Given the description of an element on the screen output the (x, y) to click on. 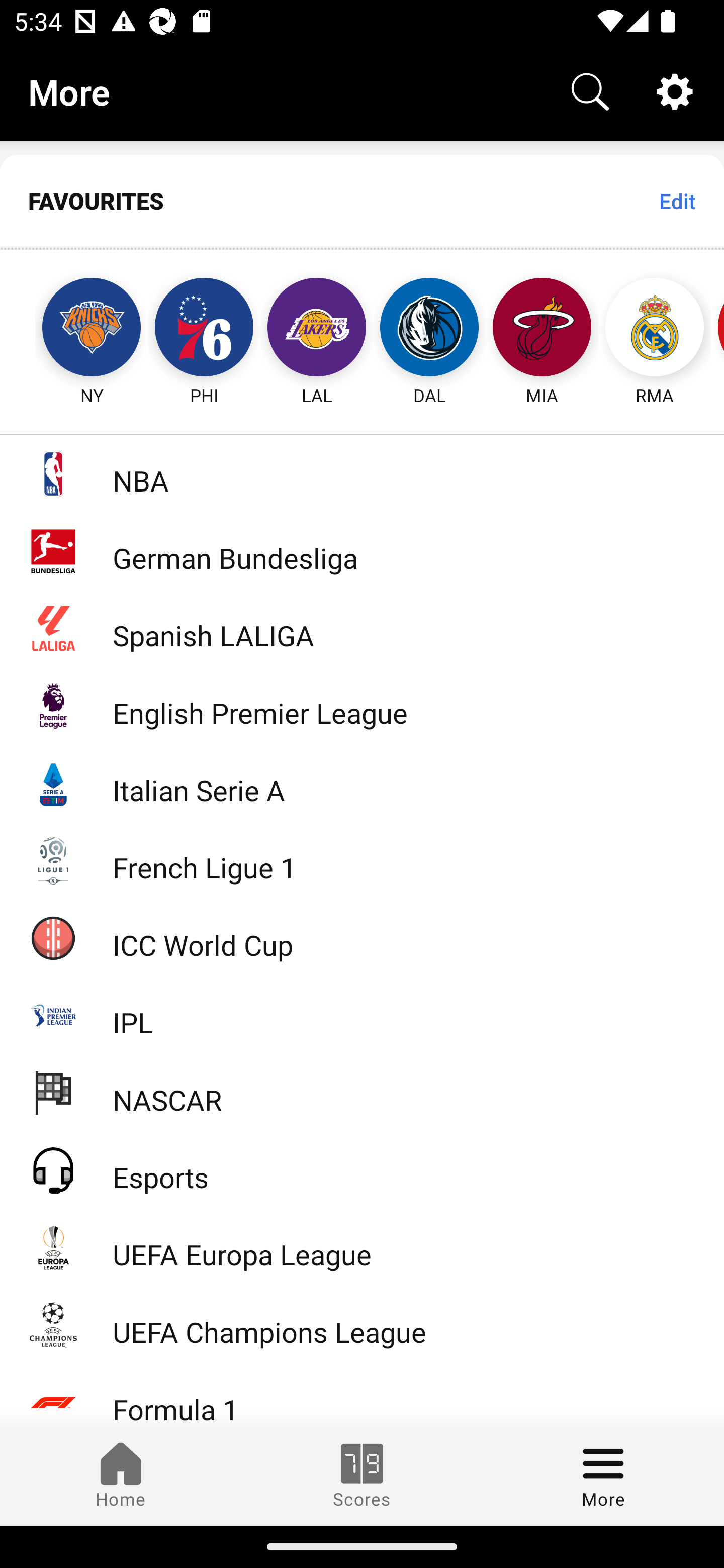
Search (590, 90)
Settings (674, 90)
Edit (676, 200)
NY New York Knicks (73, 328)
PHI Philadelphia 76ers (203, 328)
LAL Los Angeles Lakers (316, 328)
DAL Dallas Mavericks (428, 328)
MIA Miami Heat (541, 328)
RMA Real Madrid (654, 328)
NBA (362, 473)
German Bundesliga (362, 550)
Spanish LALIGA (362, 627)
English Premier League (362, 705)
Italian Serie A (362, 782)
French Ligue 1 (362, 859)
ICC World Cup (362, 937)
IPL (362, 1014)
NASCAR (362, 1091)
Esports (362, 1169)
UEFA Europa League (362, 1246)
UEFA Champions League (362, 1324)
Home (120, 1475)
Scores (361, 1475)
